Given the description of an element on the screen output the (x, y) to click on. 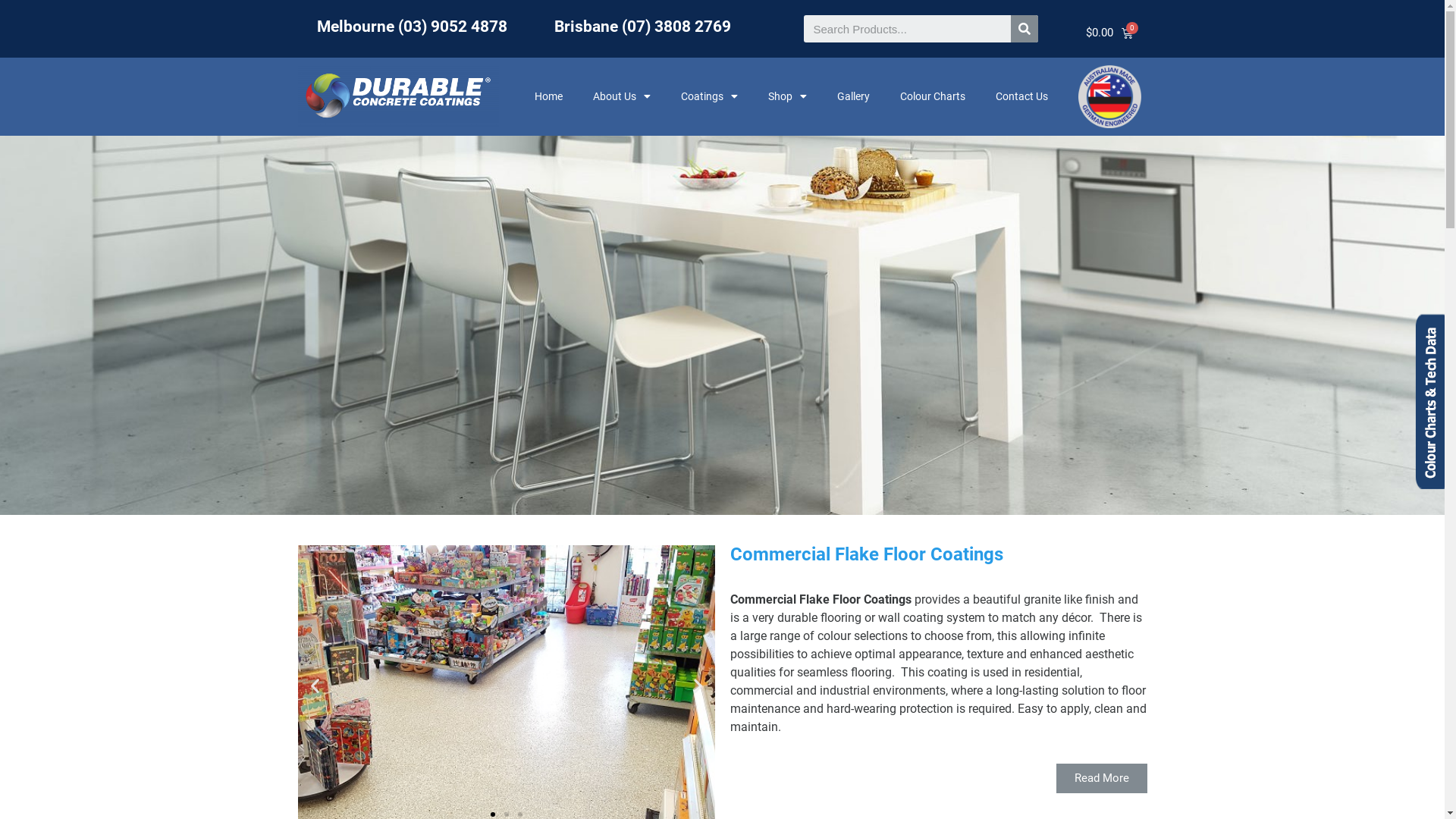
Search Element type: hover (906, 28)
Colour Charts Element type: text (932, 95)
Read More Element type: text (1100, 778)
Search Element type: hover (1024, 28)
Home Element type: text (548, 95)
Melbourne (03) 9052 4878 Element type: text (411, 26)
About Us Element type: text (621, 95)
Contact Us Element type: text (1021, 95)
Gallery Element type: text (853, 95)
Shop Element type: text (787, 95)
$0.00 Element type: text (1103, 27)
Brisbane (07) 3808 2769 Element type: text (642, 26)
Coatings Element type: text (709, 95)
